Given the description of an element on the screen output the (x, y) to click on. 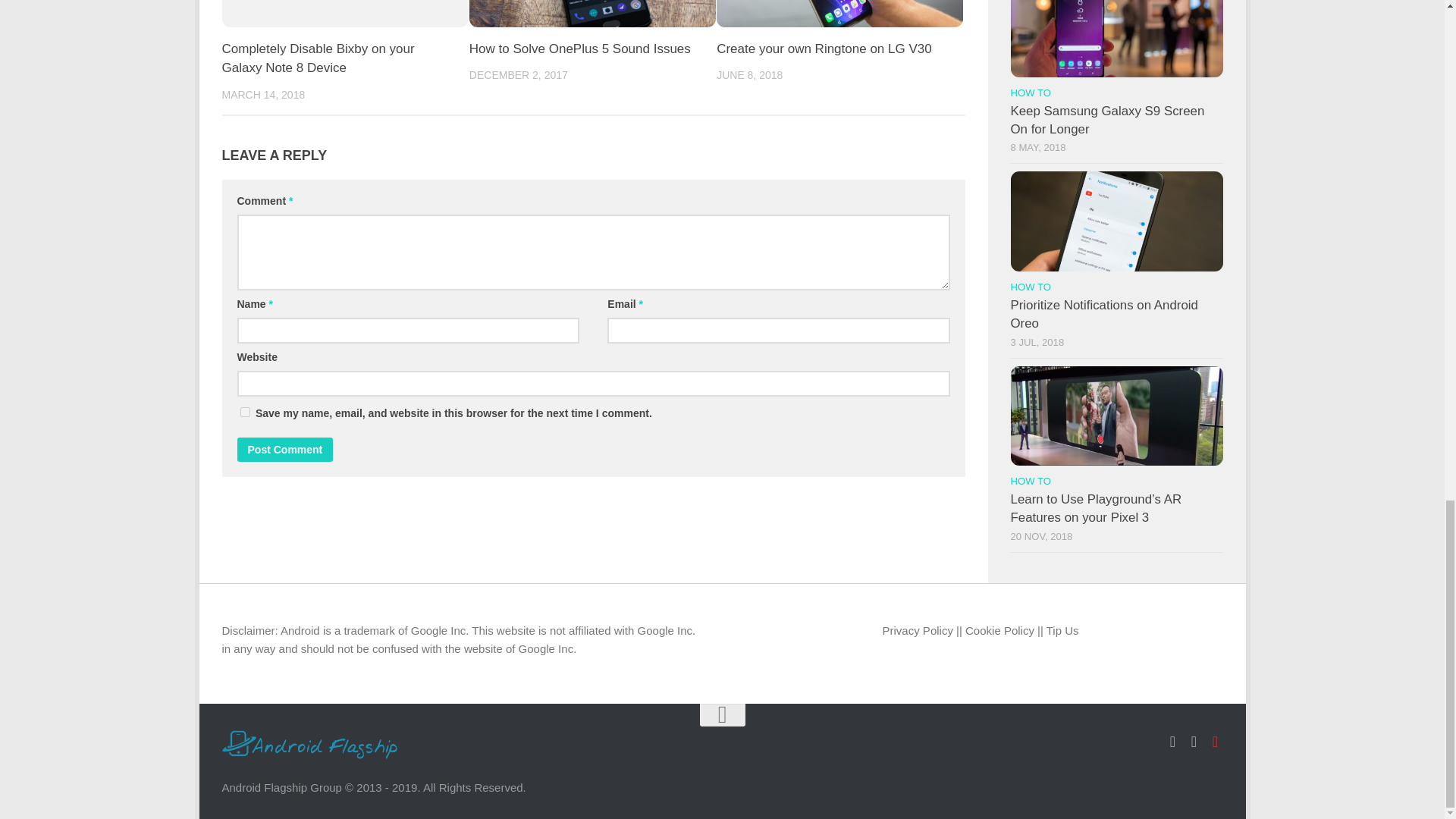
Post Comment (284, 449)
Permalink to Create your own Ringtone on LG V30 (823, 48)
How to Solve OnePlus 5 Sound Issues (579, 48)
yes (244, 411)
Completely Disable Bixby on your Galaxy Note 8 Device (317, 58)
Create your own Ringtone on LG V30 (823, 48)
Permalink to How to Solve OnePlus 5 Sound Issues (579, 48)
Post Comment (284, 449)
